Given the description of an element on the screen output the (x, y) to click on. 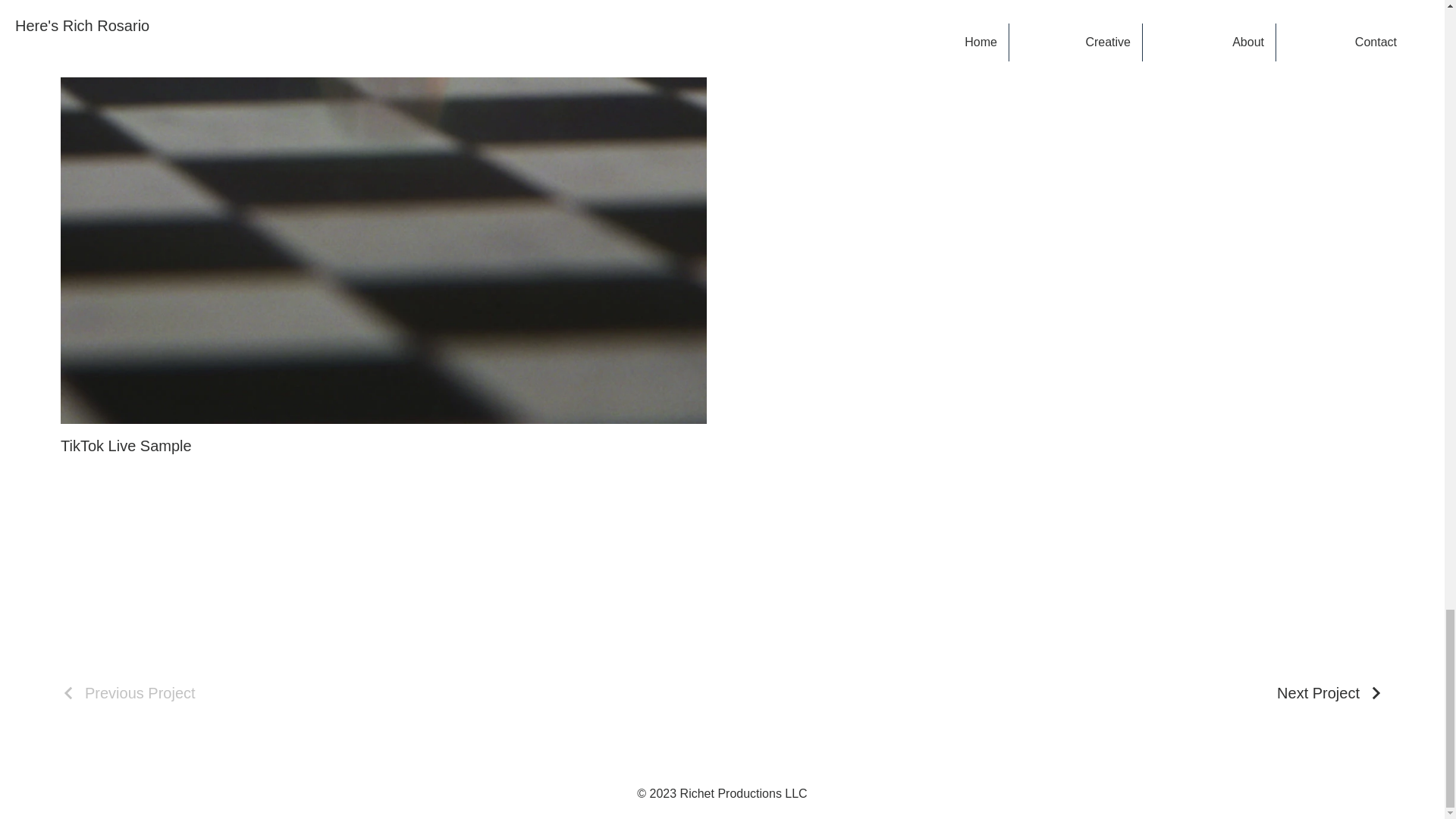
Previous Project (128, 693)
Next Project (1330, 693)
